Given the description of an element on the screen output the (x, y) to click on. 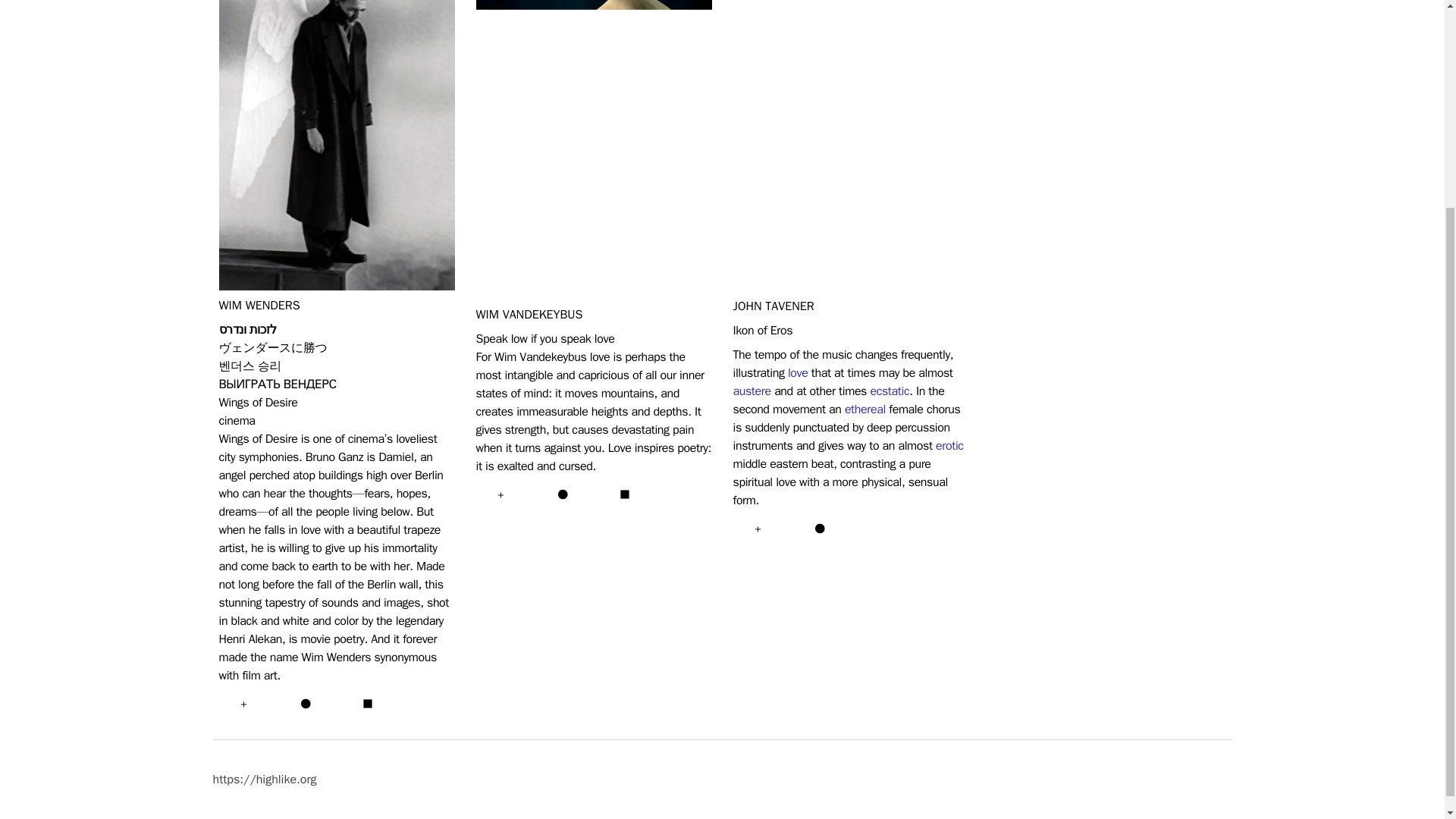
austere (751, 391)
Wim Vandekeybus (529, 314)
WIM VANDEKEYBUS (529, 314)
WIM WENDERS (258, 305)
John Tavener (772, 305)
ethereal (864, 409)
erotic (949, 445)
love (797, 372)
JOHN TAVENER (772, 305)
ecstatic (888, 391)
Wim Wenders (258, 305)
